Given the description of an element on the screen output the (x, y) to click on. 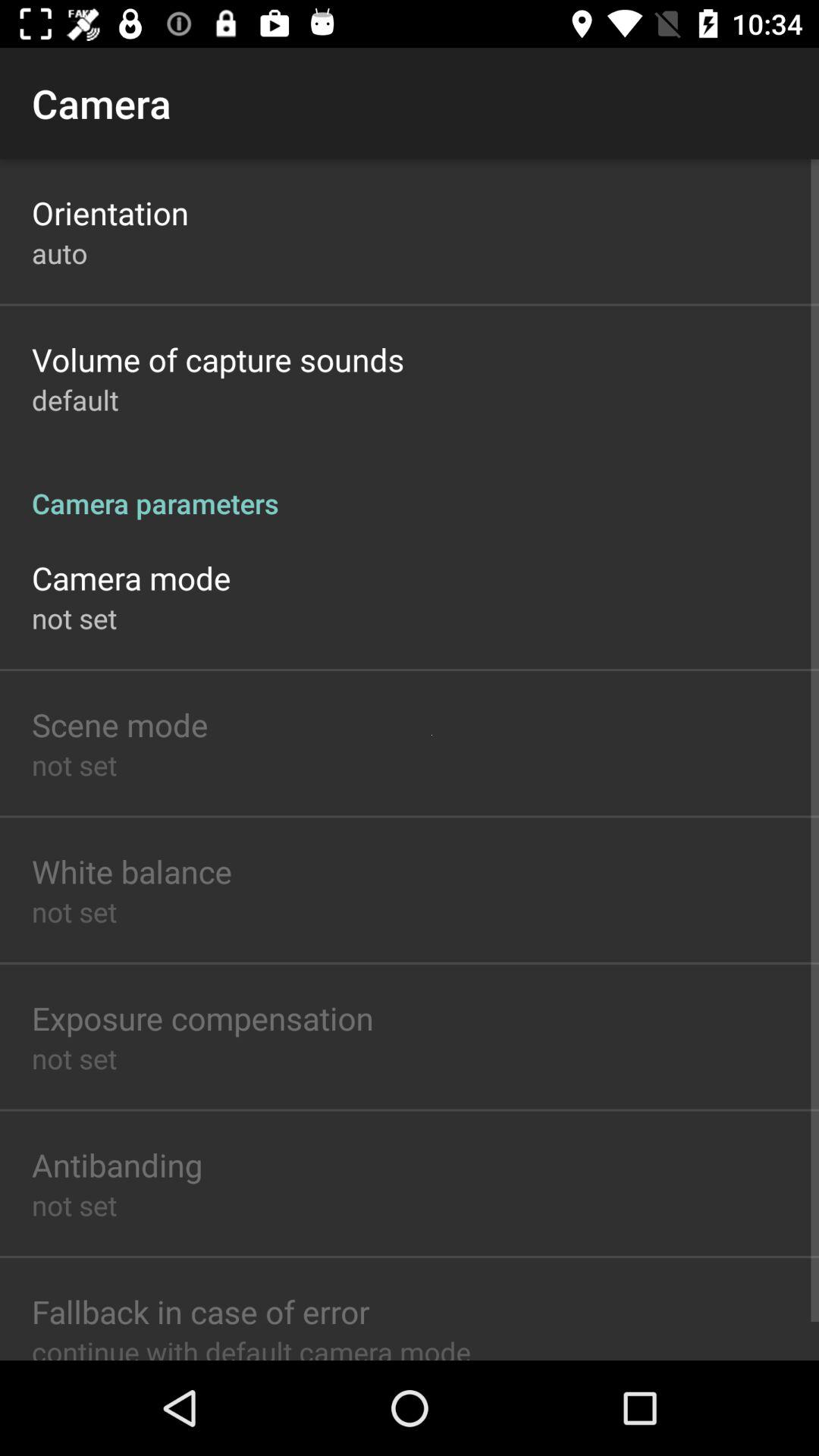
click app below the not set (119, 724)
